Given the description of an element on the screen output the (x, y) to click on. 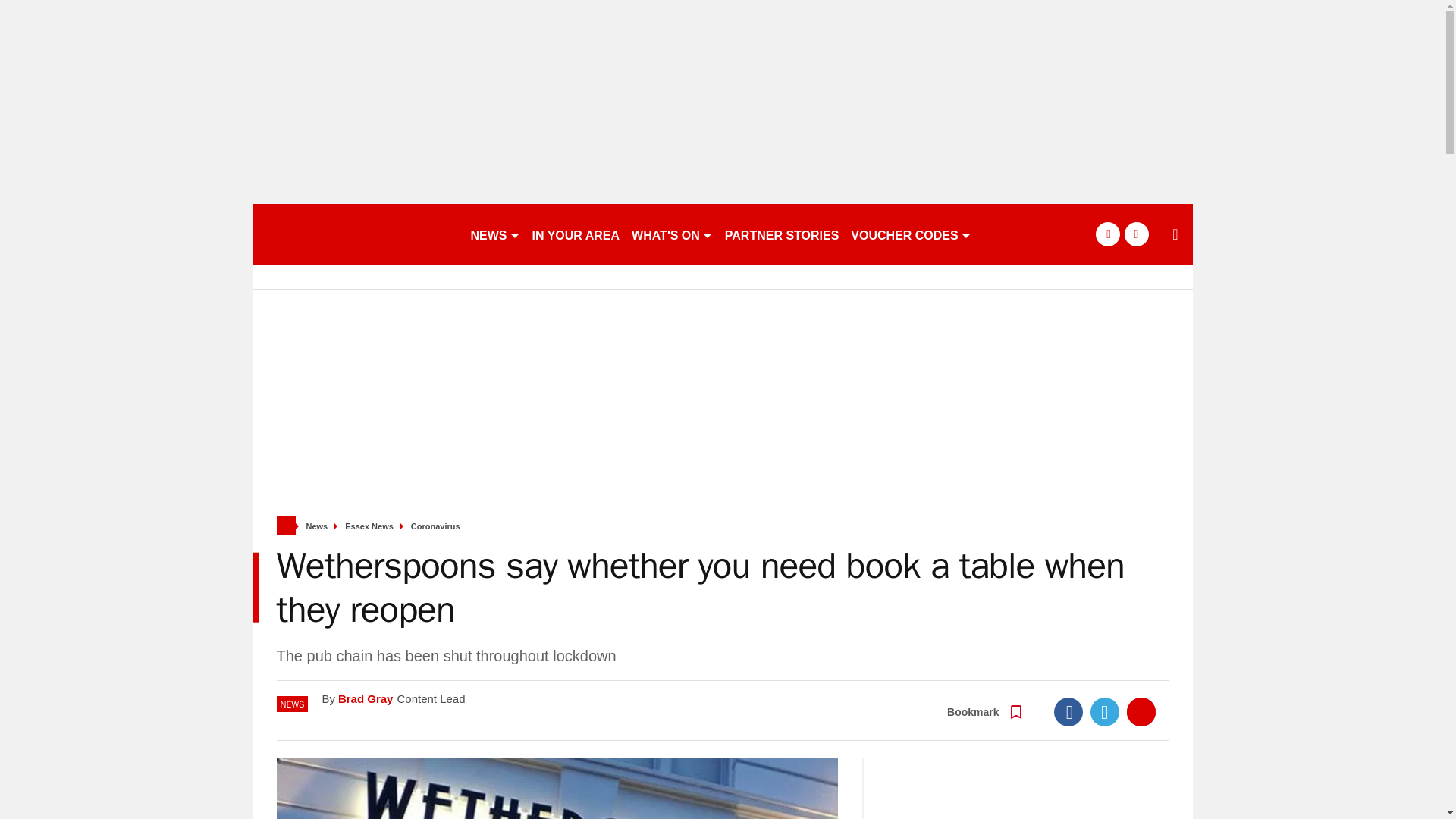
PARTNER STORIES (782, 233)
facebook (1106, 233)
WHAT'S ON (672, 233)
Facebook (1068, 711)
twitter (1136, 233)
essexlive (354, 233)
VOUCHER CODES (910, 233)
Twitter (1104, 711)
NEWS (494, 233)
IN YOUR AREA (575, 233)
